Given the description of an element on the screen output the (x, y) to click on. 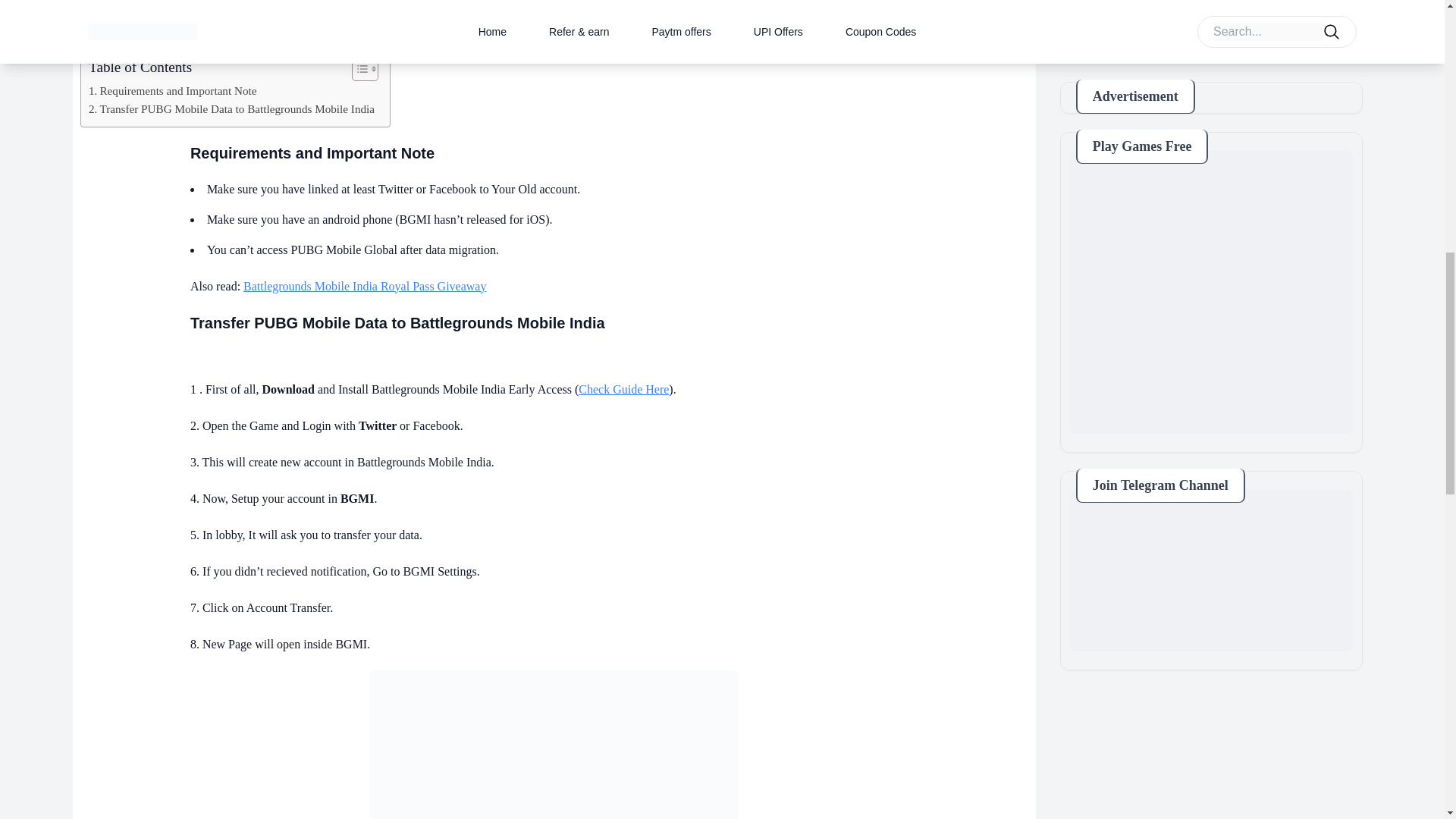
Transfer PUBG Mobile Data to Battlegrounds Mobile India (231, 108)
Requirements and Important Note (172, 90)
Transfer PUBG Mobile Data to Battlegrounds Mobile India (231, 108)
Requirements and Important Note (172, 90)
Check Guide Here (623, 389)
Transfer PUBG Mobile Data to Battlegrounds Mobile India (553, 744)
Battlegrounds Mobile India Royal Pass Giveaway (364, 286)
